Given the description of an element on the screen output the (x, y) to click on. 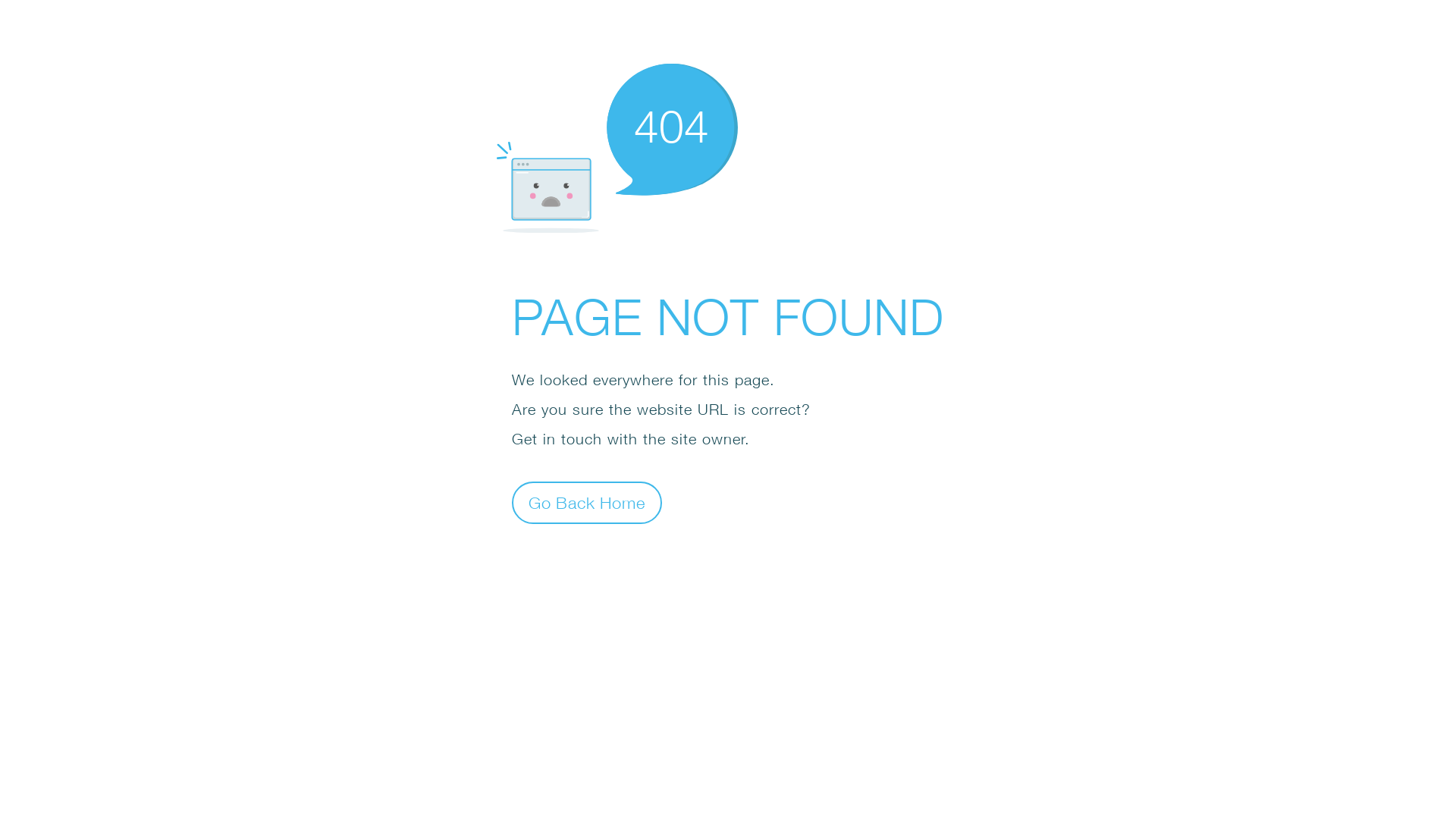
Go Back Home Element type: text (586, 502)
